Given the description of an element on the screen output the (x, y) to click on. 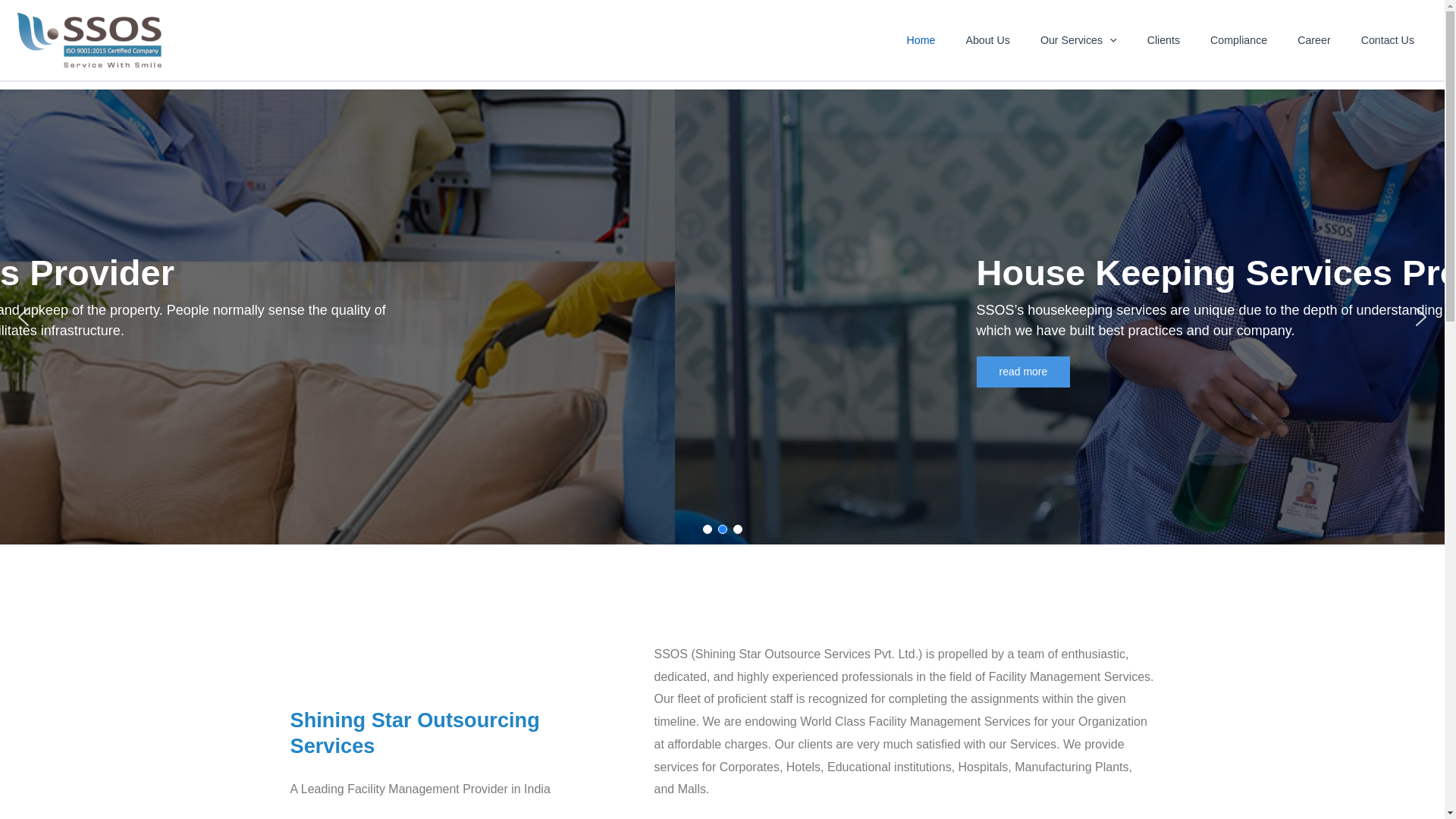
Compliance (1238, 40)
Career (1313, 40)
Clients (1163, 40)
Contact Us (1387, 40)
Our Services (1078, 40)
Home (920, 40)
About Us (987, 40)
